Given the description of an element on the screen output the (x, y) to click on. 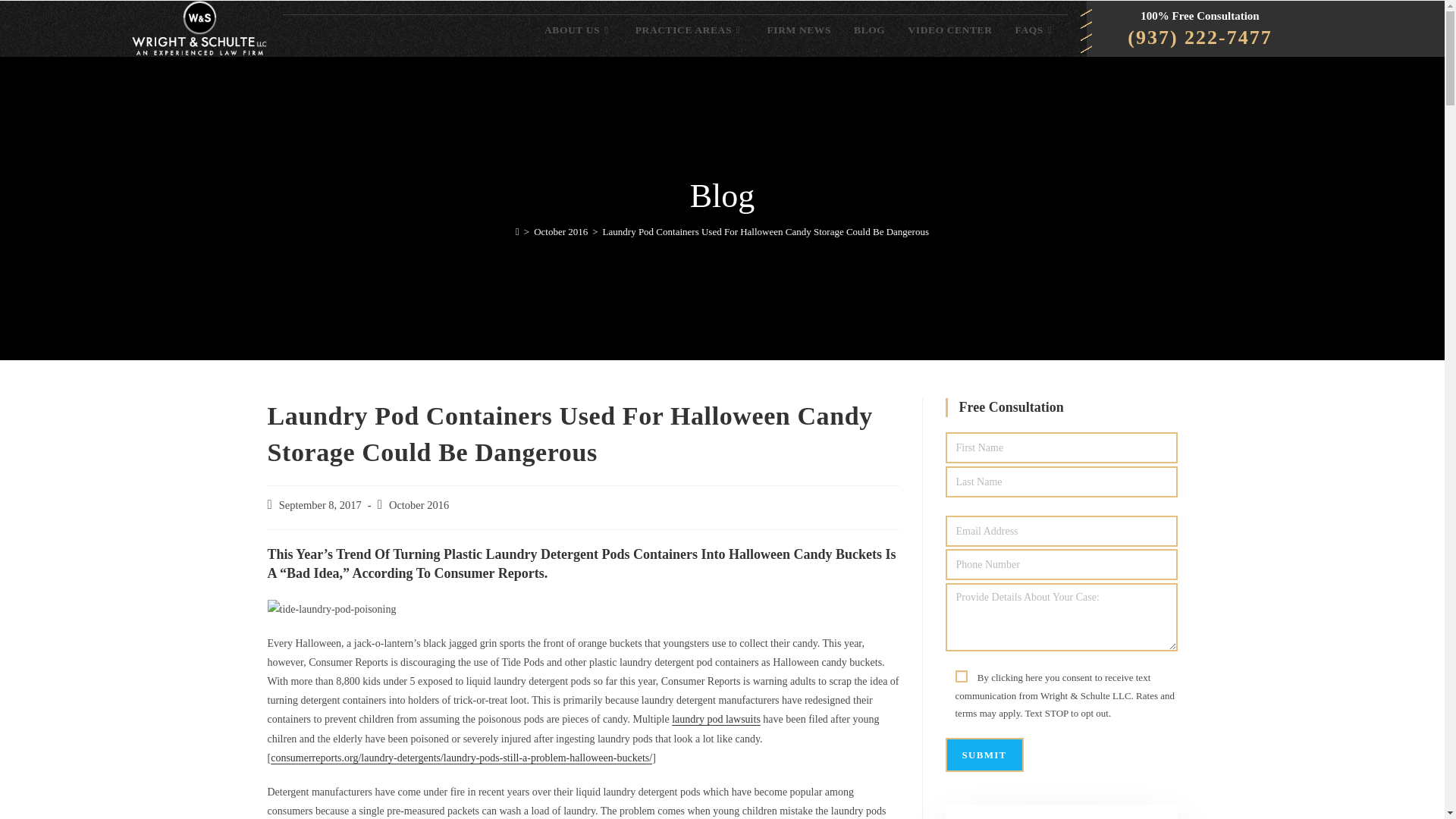
Submit (983, 754)
ABOUT US (578, 29)
1 (961, 676)
PRACTICE AREAS (689, 29)
